Given the description of an element on the screen output the (x, y) to click on. 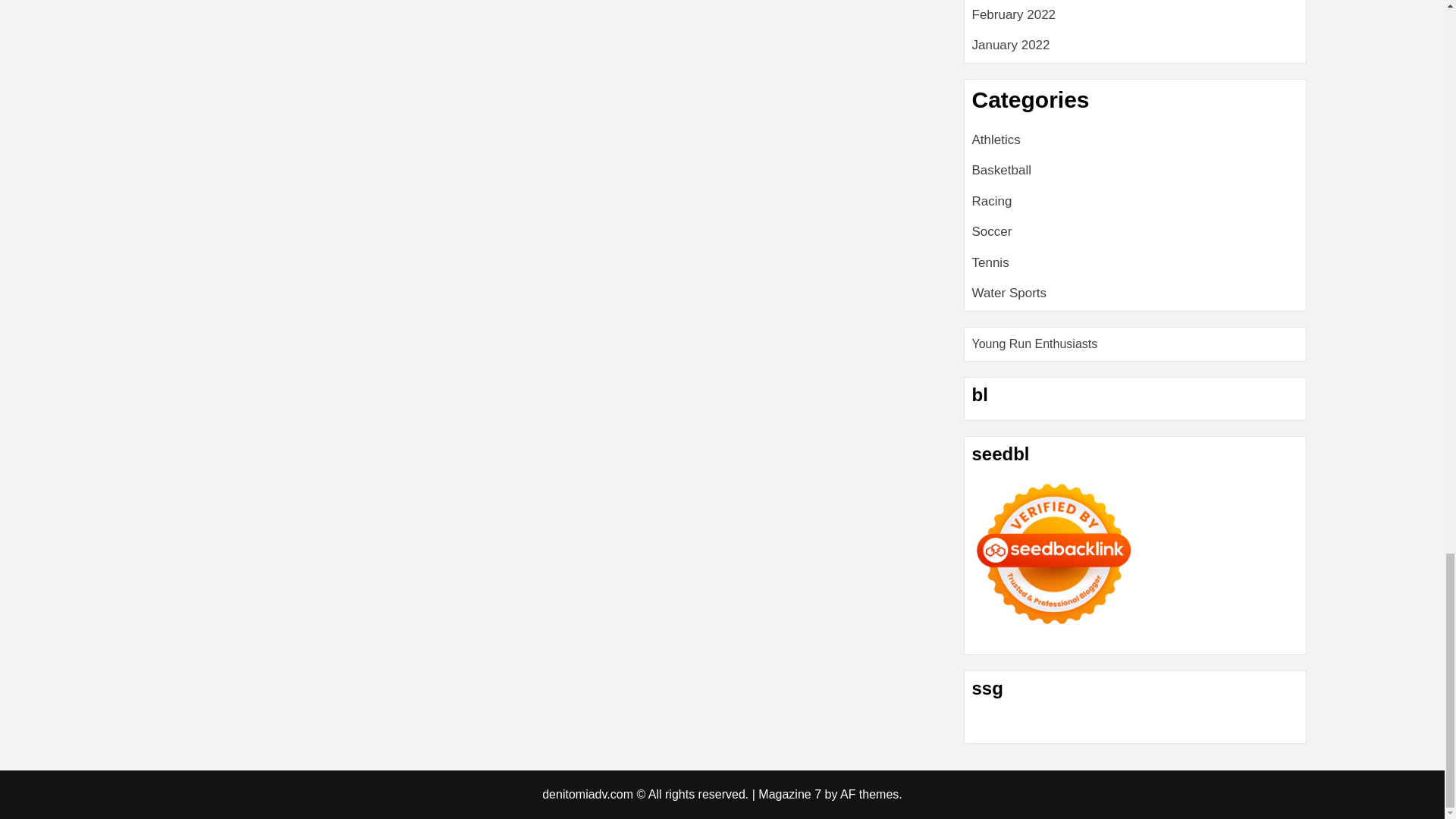
Seedbacklink (1053, 553)
